Given the description of an element on the screen output the (x, y) to click on. 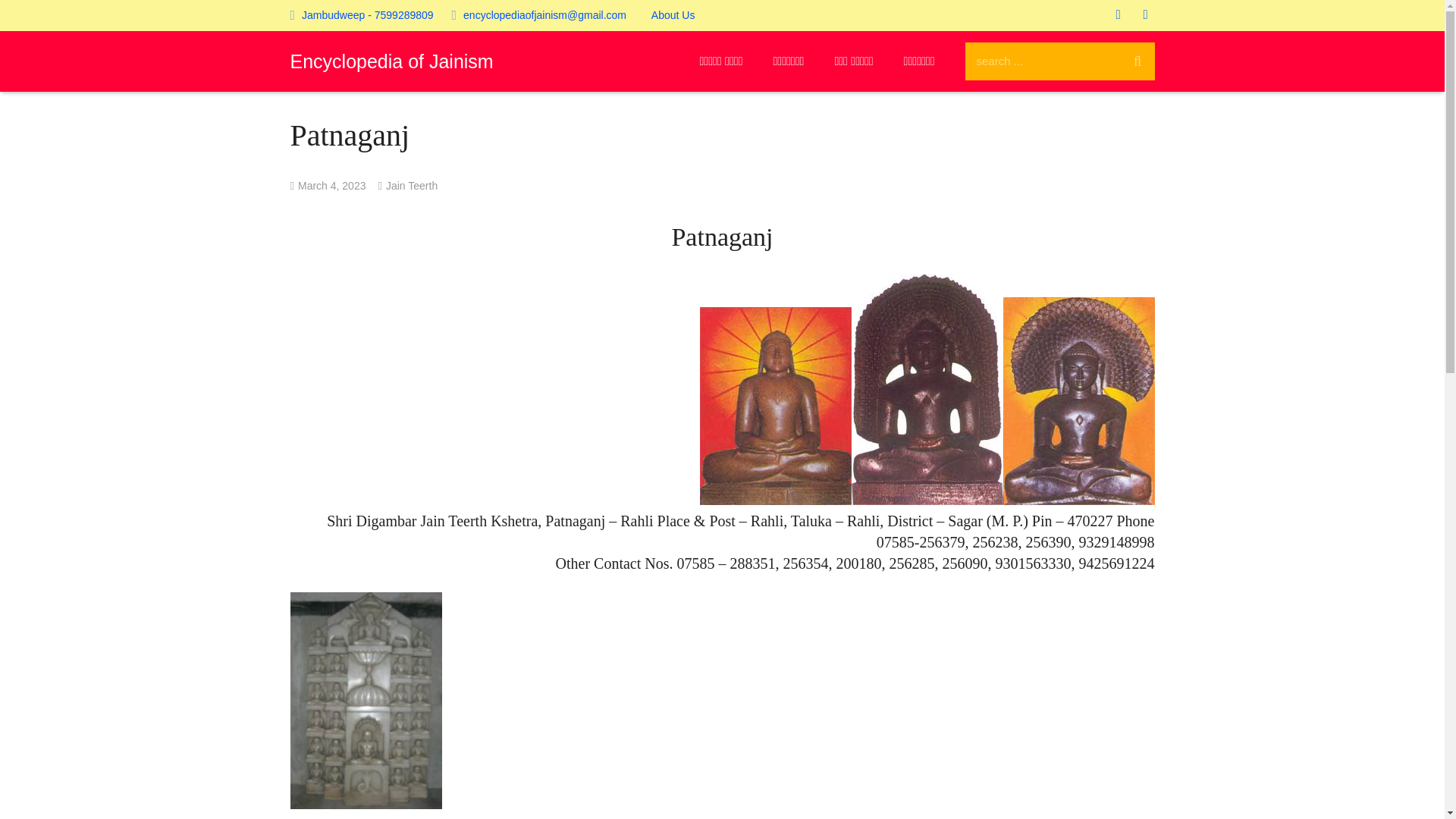
About Us (672, 15)
Encyclopedia of Jainism (391, 61)
Jain Teerth (411, 185)
